Given the description of an element on the screen output the (x, y) to click on. 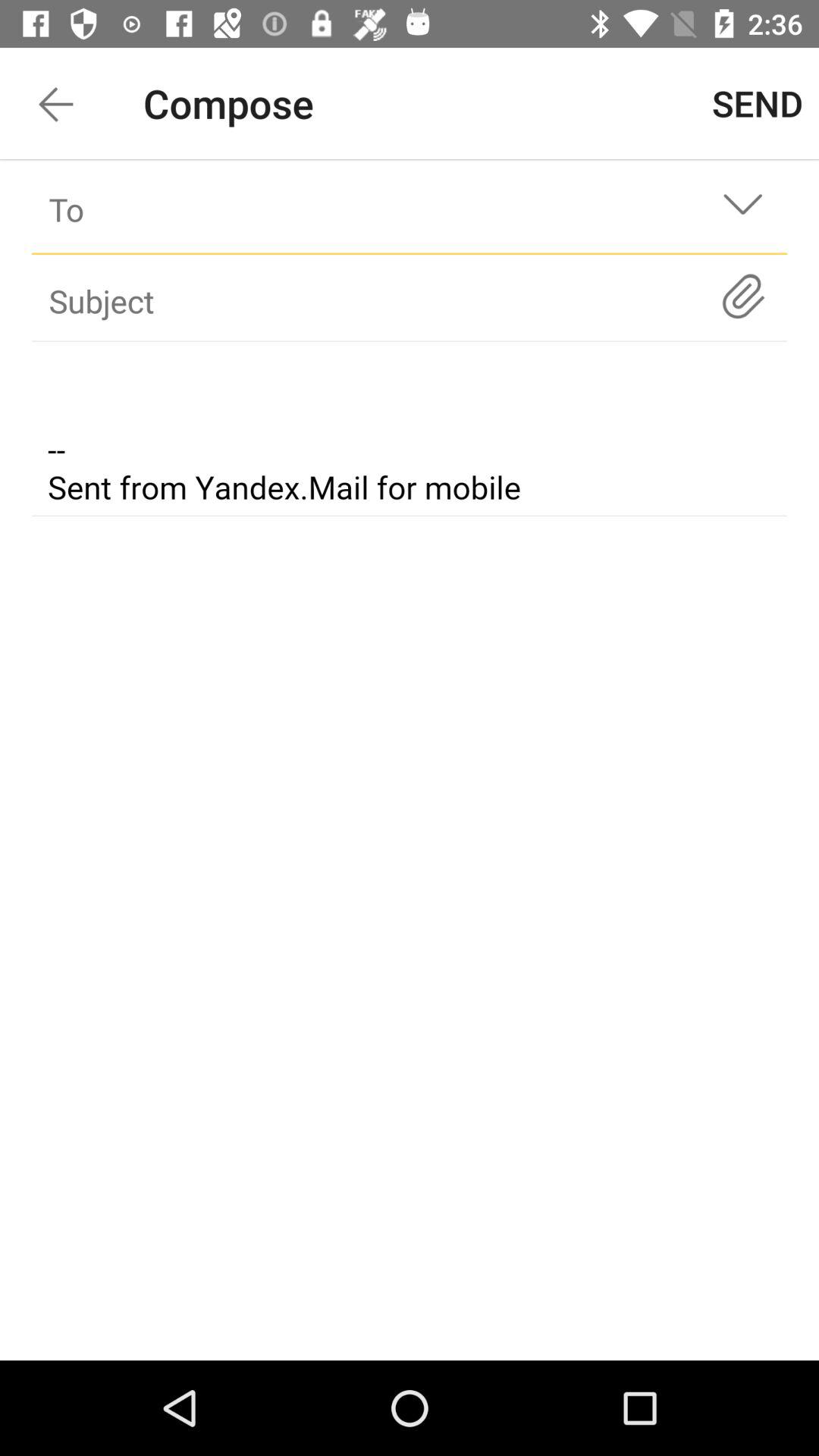
type the title (382, 300)
